Given the description of an element on the screen output the (x, y) to click on. 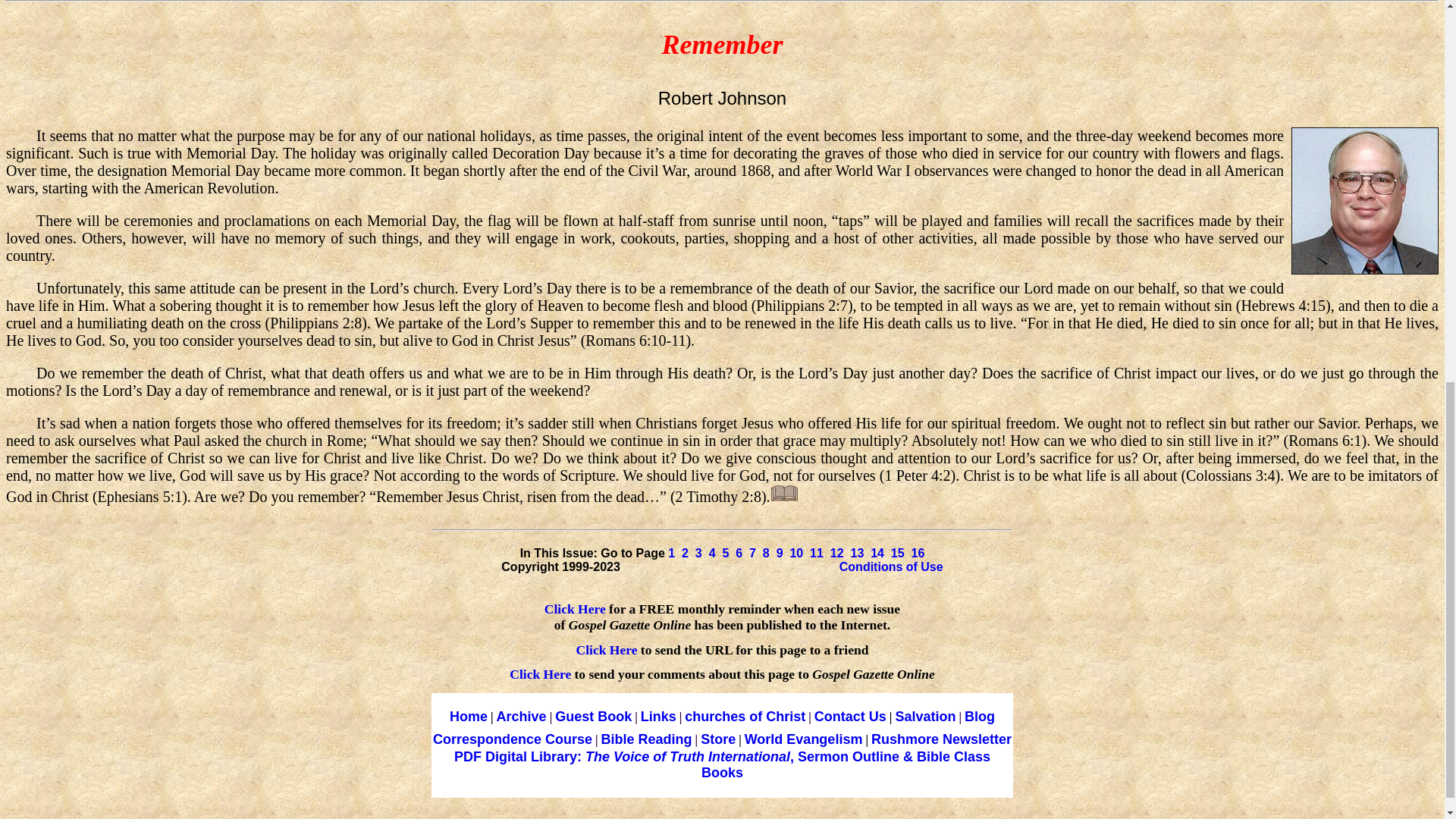
14 (876, 553)
11 (816, 553)
Conditions of Use (891, 566)
15 (897, 553)
Click Here (608, 649)
13 (856, 553)
16 (917, 553)
10 (796, 553)
Click Here (574, 608)
12 (836, 553)
